Given the description of an element on the screen output the (x, y) to click on. 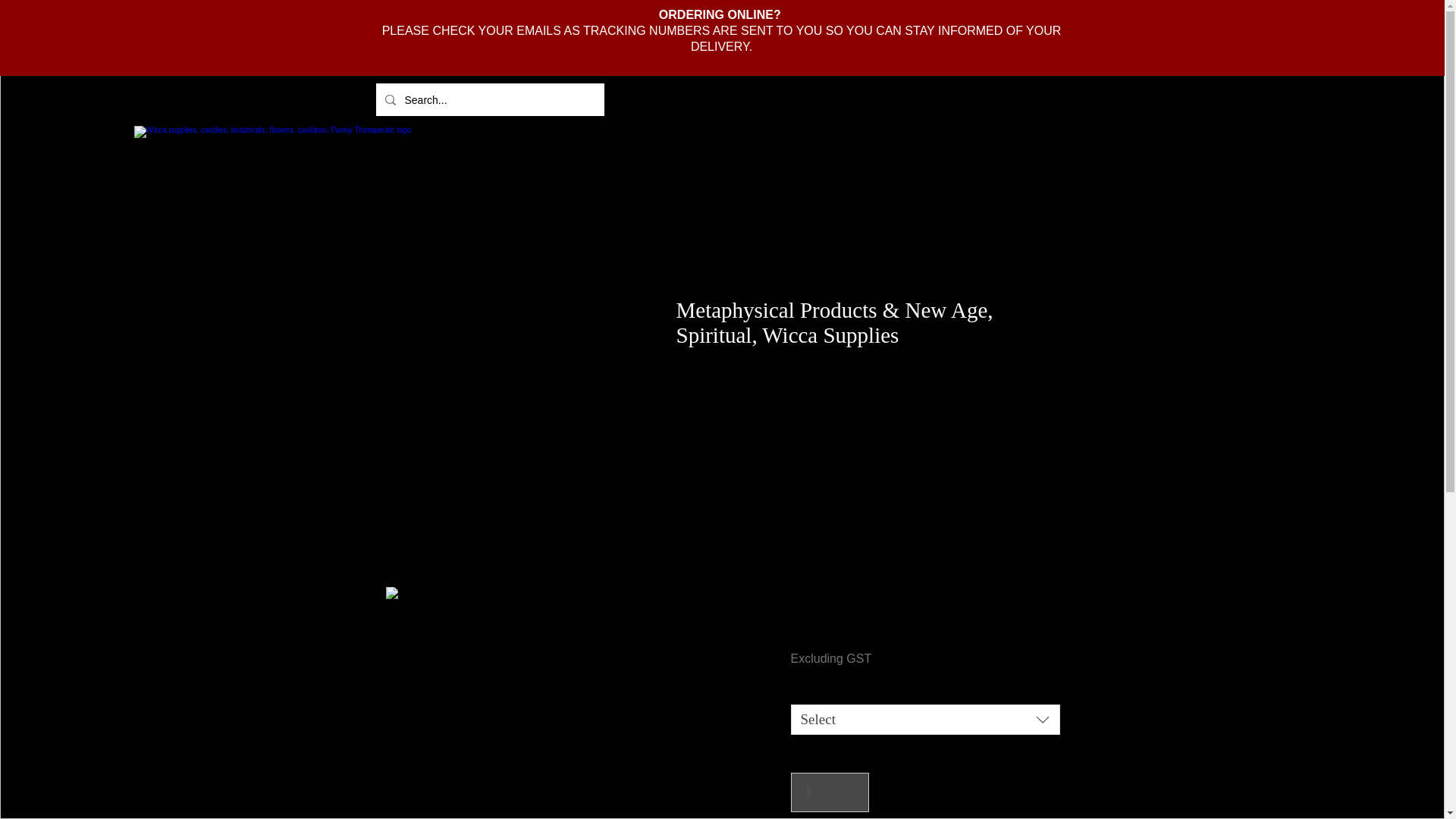
Log In (965, 99)
1 (829, 792)
